Given the description of an element on the screen output the (x, y) to click on. 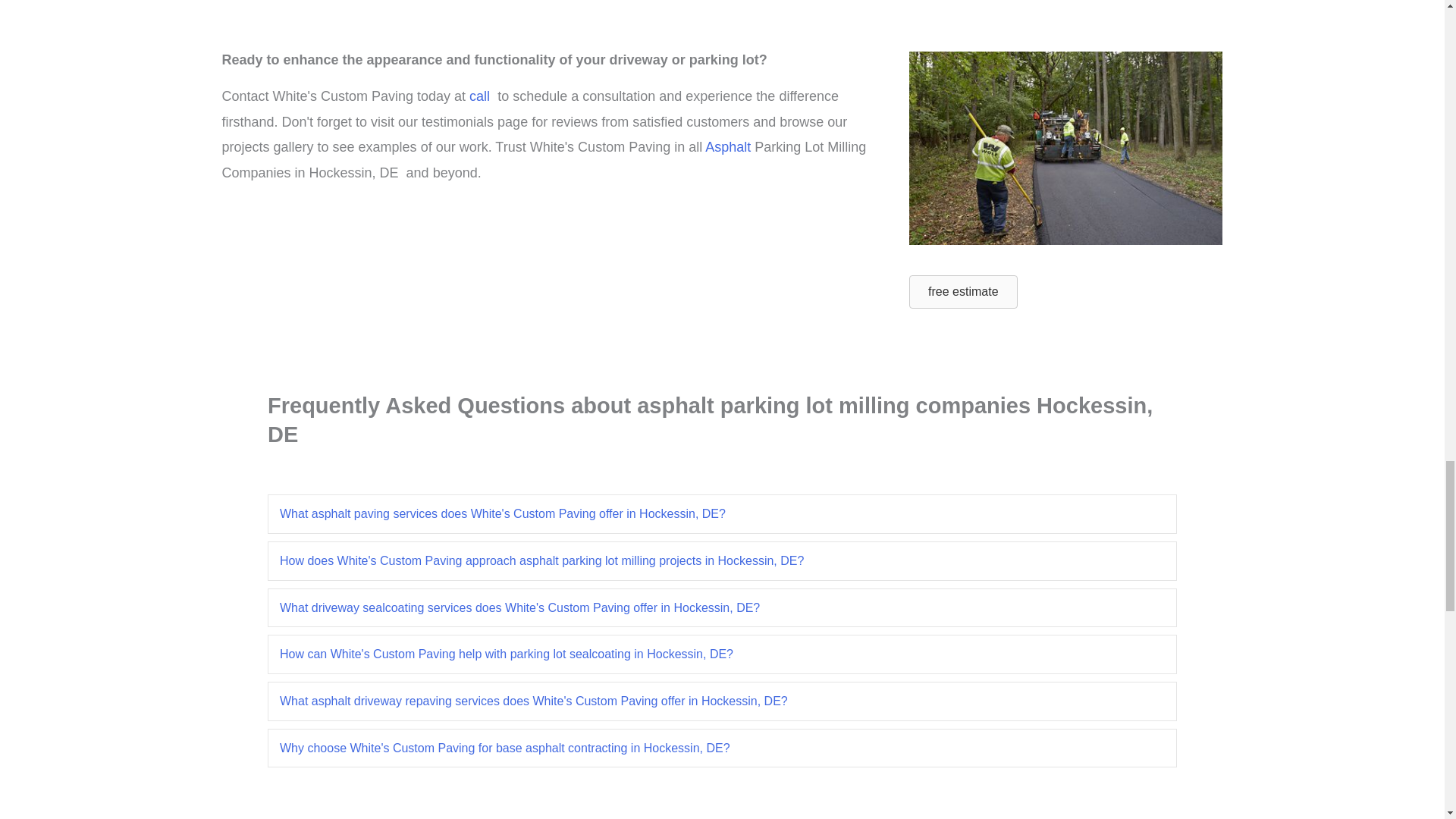
1000176389 (1065, 147)
